Given the description of an element on the screen output the (x, y) to click on. 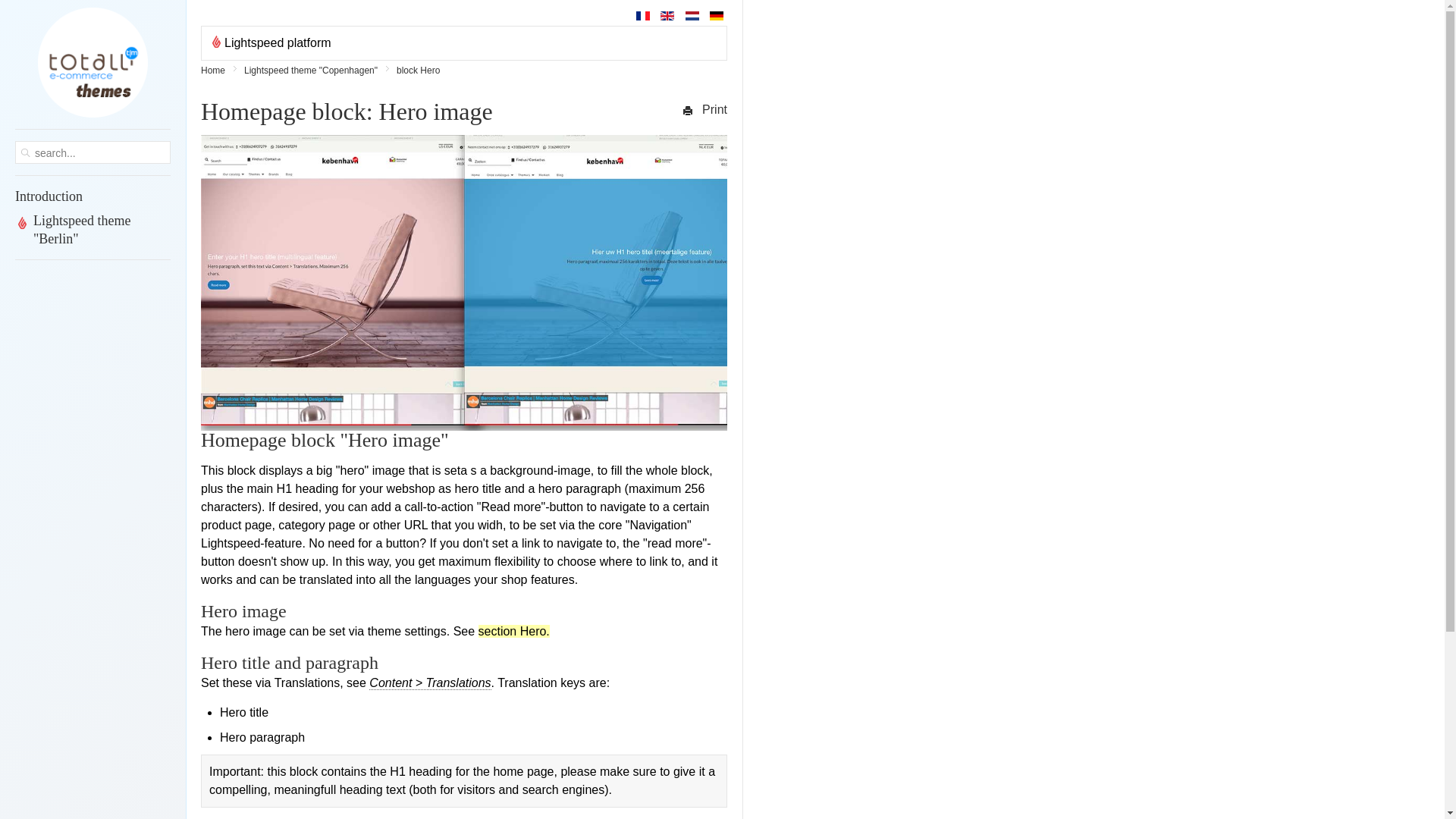
Reset (3, 2)
Nederlands (691, 15)
Lightspeed theme "Berlin" (92, 229)
Introduction (92, 196)
Deutsch (716, 15)
Home (217, 70)
Lightspeed theme "Copenhagen" (316, 70)
Print (704, 109)
